Given the description of an element on the screen output the (x, y) to click on. 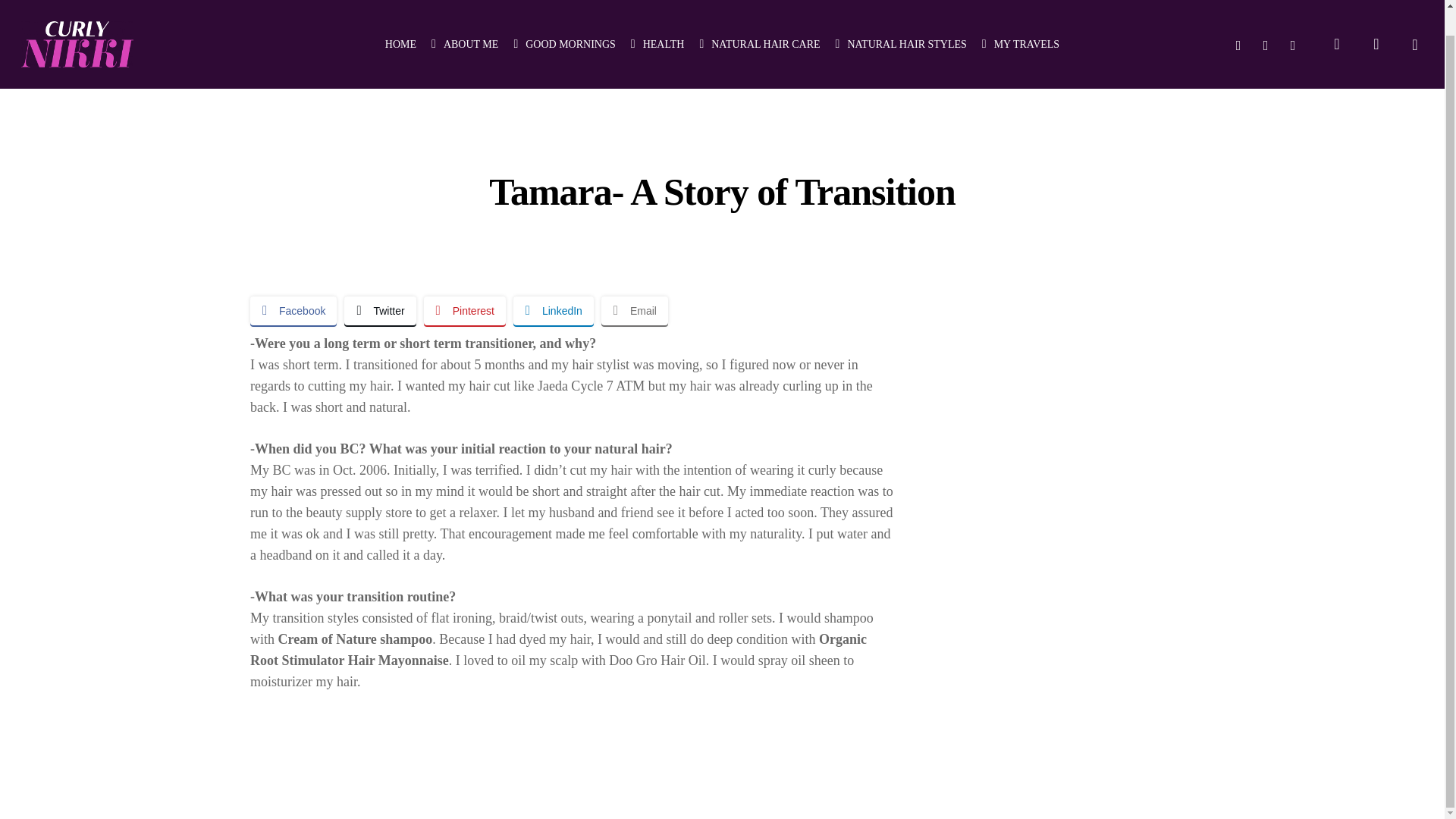
NATURAL HAIR CARE (758, 18)
ABOUT ME (463, 18)
GOOD MORNINGS (563, 18)
NATURAL HAIR STYLES (900, 18)
HOME (400, 18)
HEALTH (657, 18)
